Given the description of an element on the screen output the (x, y) to click on. 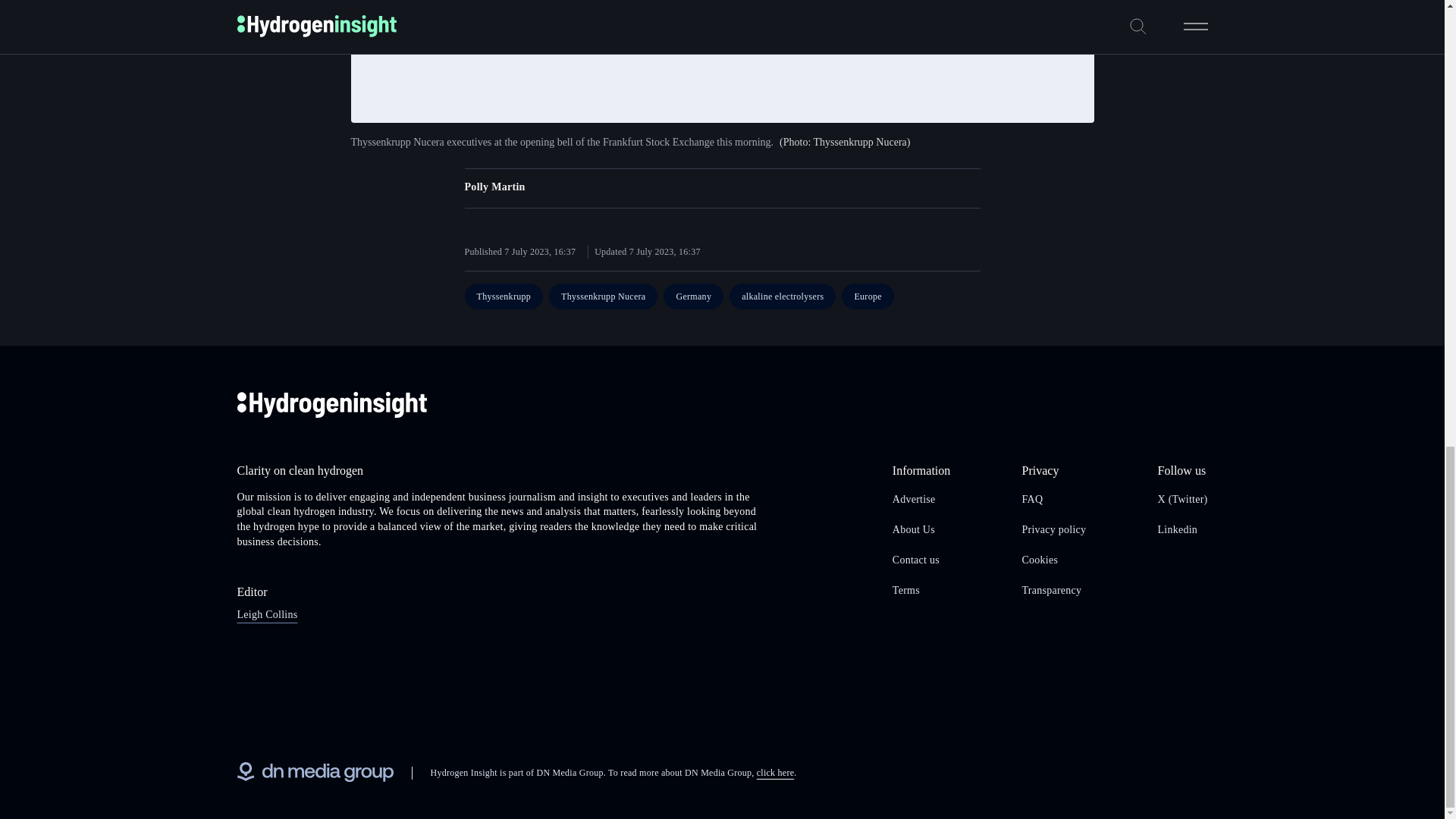
FAQ (1032, 499)
Germany (693, 296)
Privacy policy (1054, 529)
Leigh Collins (266, 614)
Thyssenkrupp Nucera (603, 296)
Contact us (915, 559)
Transparency (1051, 590)
Linkedin (1177, 529)
Cookies (1040, 559)
Thyssenkrupp Nucera (603, 296)
About Us (913, 529)
Europe (867, 296)
alkaline electrolysers (782, 296)
alkaline electrolysers (782, 296)
Advertise (914, 499)
